Given the description of an element on the screen output the (x, y) to click on. 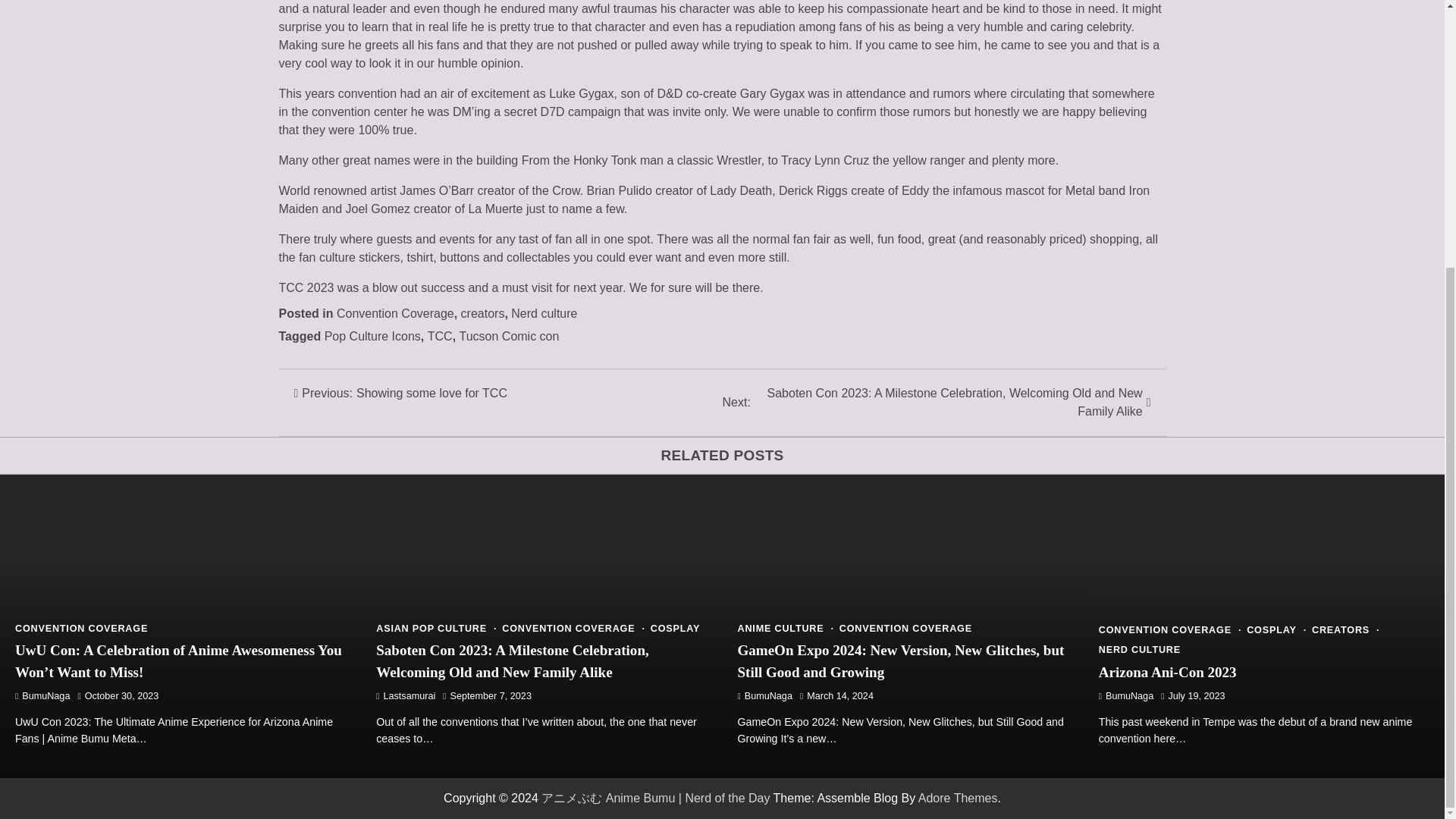
TCC (440, 336)
Pop Culture Icons (372, 336)
CONVENTION COVERAGE (906, 628)
CONVENTION COVERAGE (400, 393)
CONVENTION COVERAGE (81, 628)
Nerd culture (573, 628)
Tucson Comic con (543, 313)
